Given the description of an element on the screen output the (x, y) to click on. 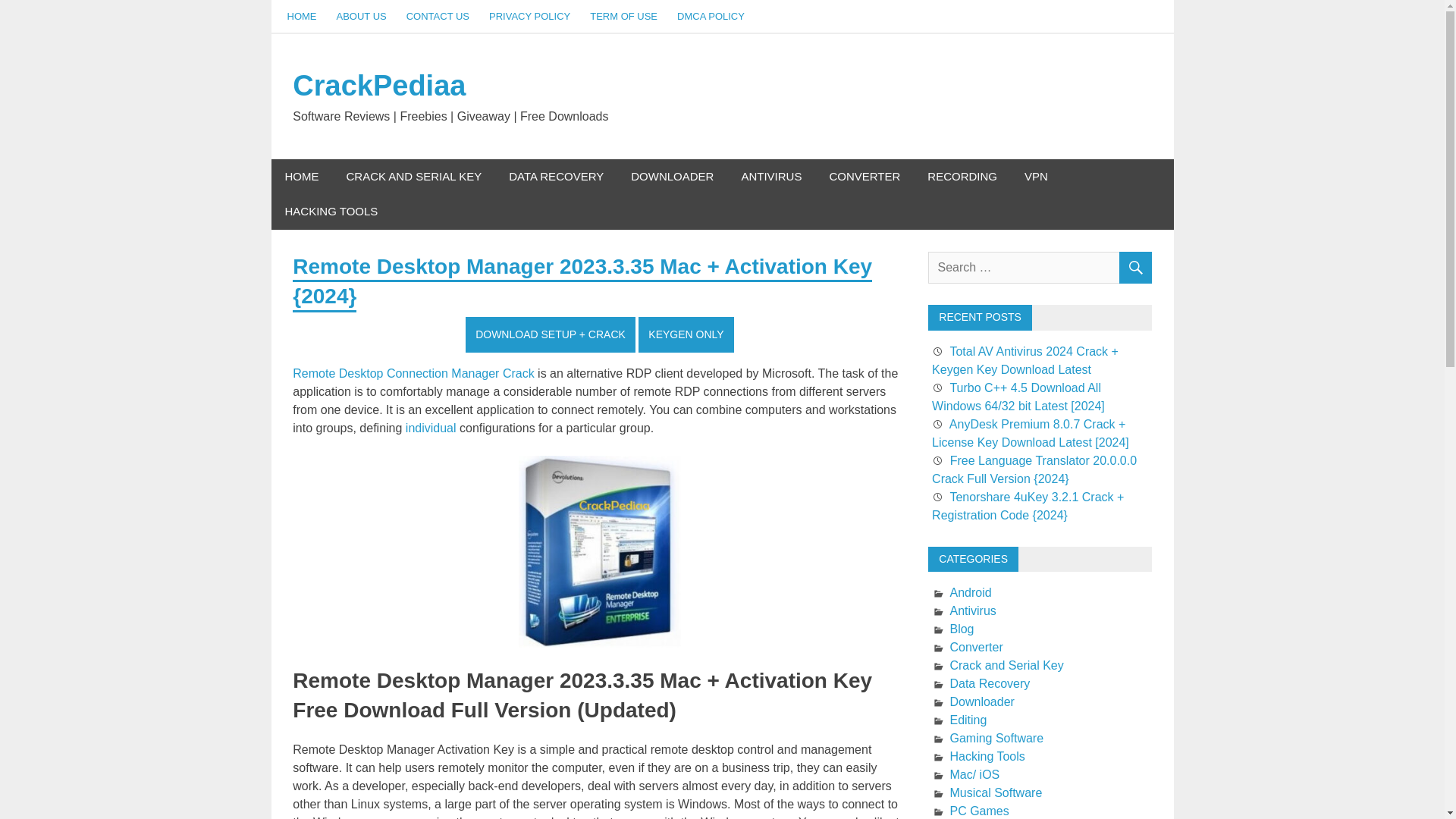
TERM OF USE (622, 16)
individual (431, 427)
HOME (302, 16)
CrackPediaa (378, 85)
DMCA POLICY (710, 16)
HOME (301, 176)
HACKING TOOLS (330, 212)
KEYGEN ONLY (686, 334)
ABOUT US (361, 16)
CONTACT US (437, 16)
